Given the description of an element on the screen output the (x, y) to click on. 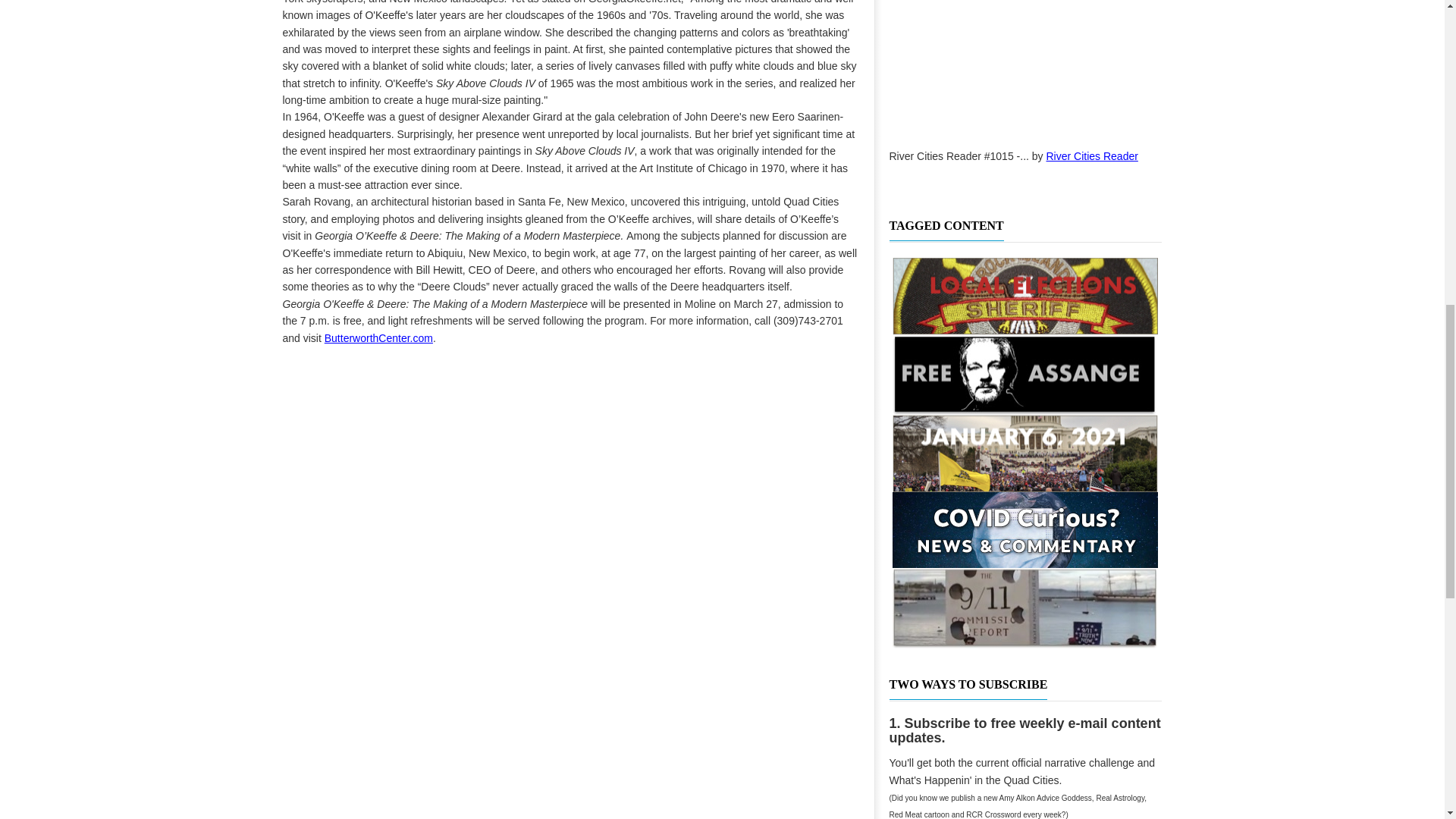
ButterworthCenter.com (378, 337)
View River Cities Reader's profile on Scribd (1092, 155)
